Given the description of an element on the screen output the (x, y) to click on. 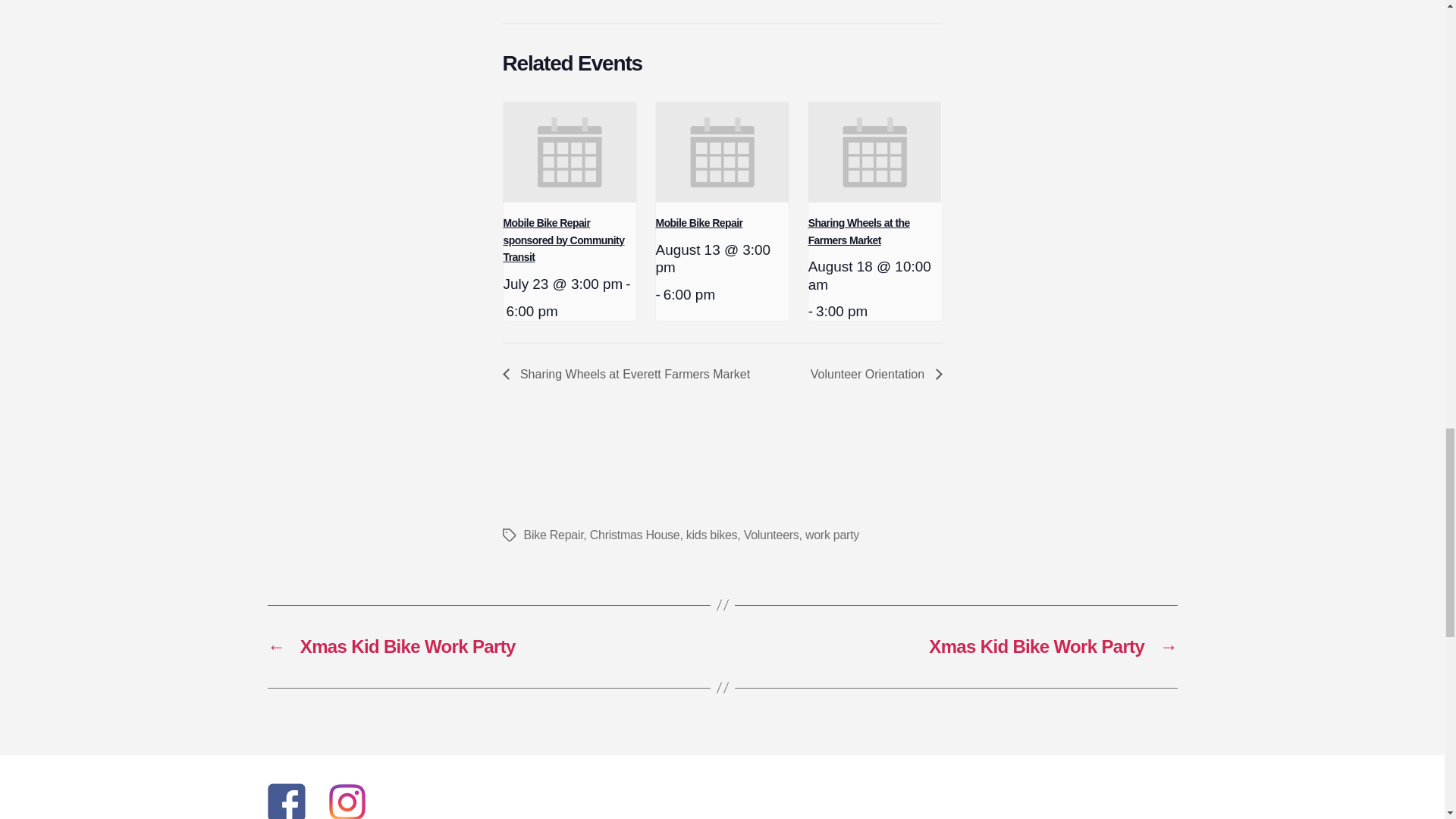
Google maps iframe displaying the address to at the Shop (727, 2)
